Given the description of an element on the screen output the (x, y) to click on. 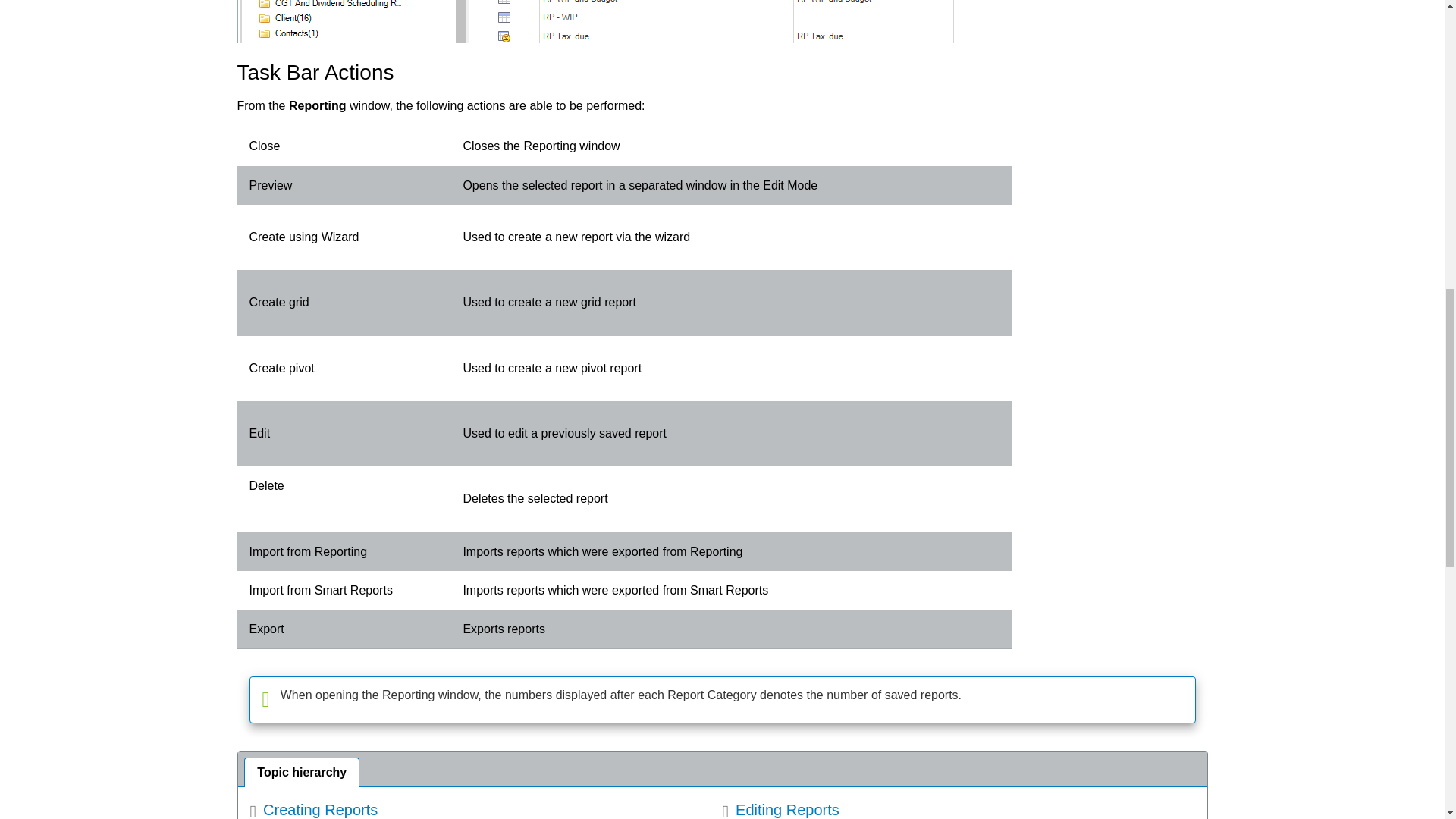
Editing Reports (780, 809)
Topic hierarchy (722, 769)
Note (721, 699)
Creating Reports (314, 809)
Topic hierarchy (722, 769)
Creating Reports (314, 809)
Editing Reports (780, 809)
Topic hierarchy (301, 772)
